Given the description of an element on the screen output the (x, y) to click on. 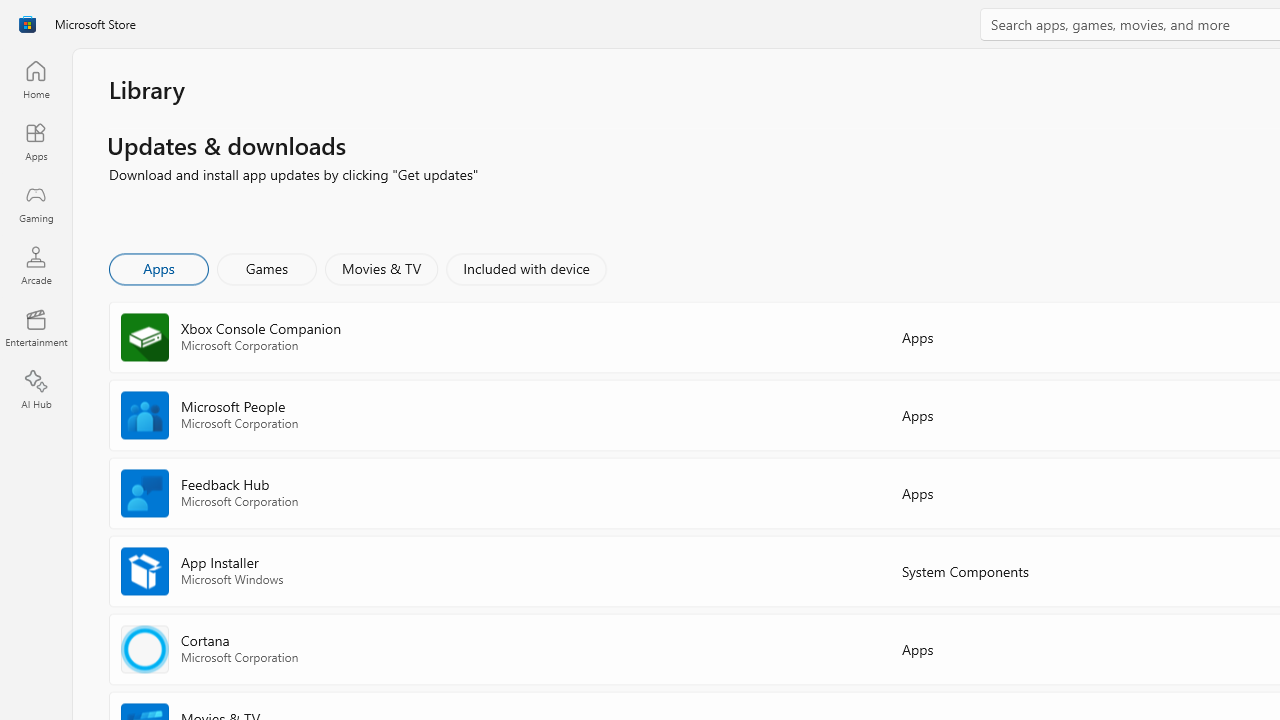
Movies & TV (381, 268)
Apps (35, 141)
Included with device (525, 268)
Games (267, 268)
Arcade (35, 265)
Entertainment (35, 327)
Home (35, 79)
Class: Image (27, 24)
Apps (158, 268)
AI Hub (35, 390)
Gaming (35, 203)
